Given the description of an element on the screen output the (x, y) to click on. 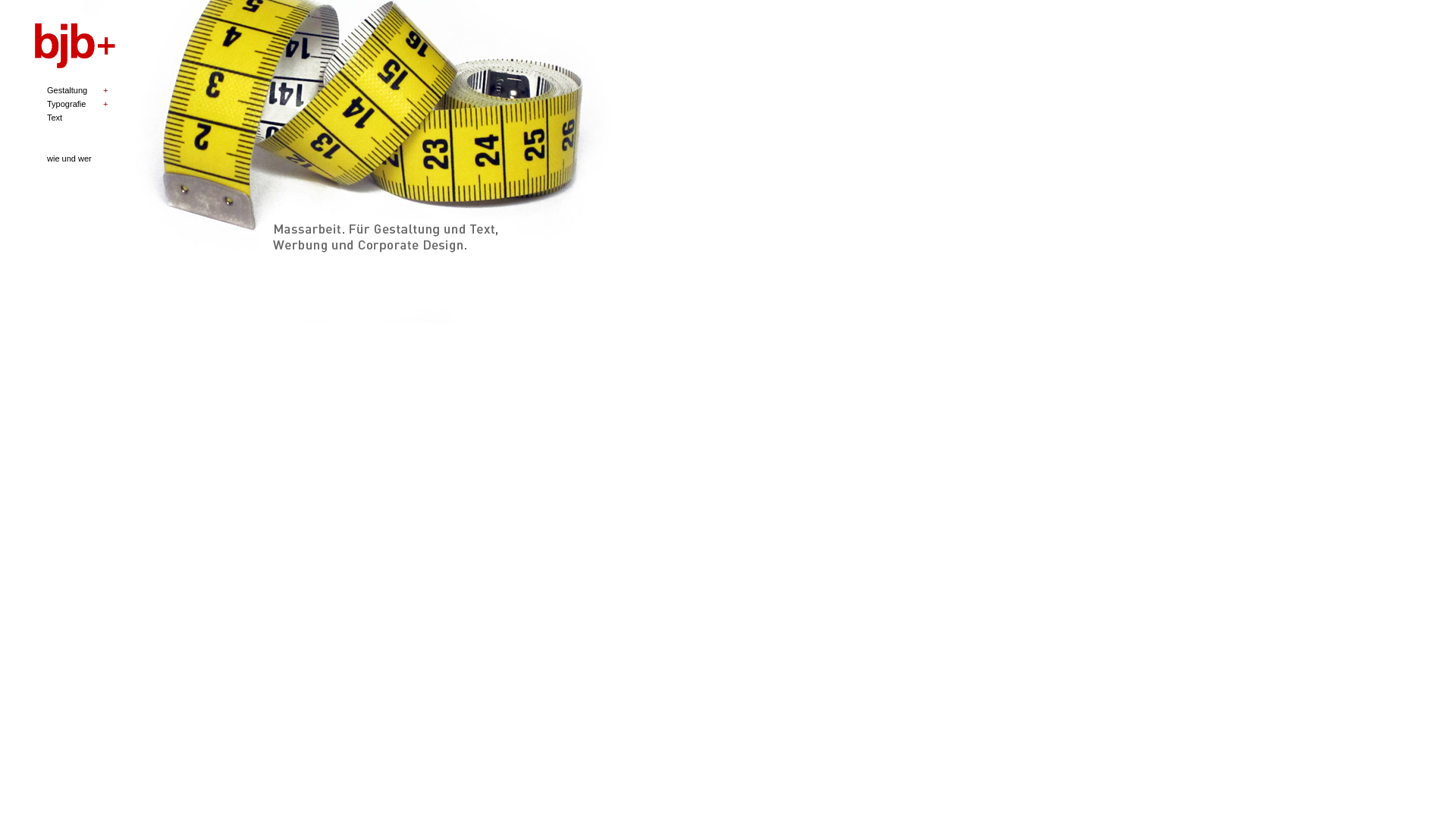
wie und wer Element type: text (69, 158)
Typografie 
+ Element type: text (67, 103)
Text Element type: text (54, 117)
Gestaltung 
+ Element type: text (68, 89)
